Given the description of an element on the screen output the (x, y) to click on. 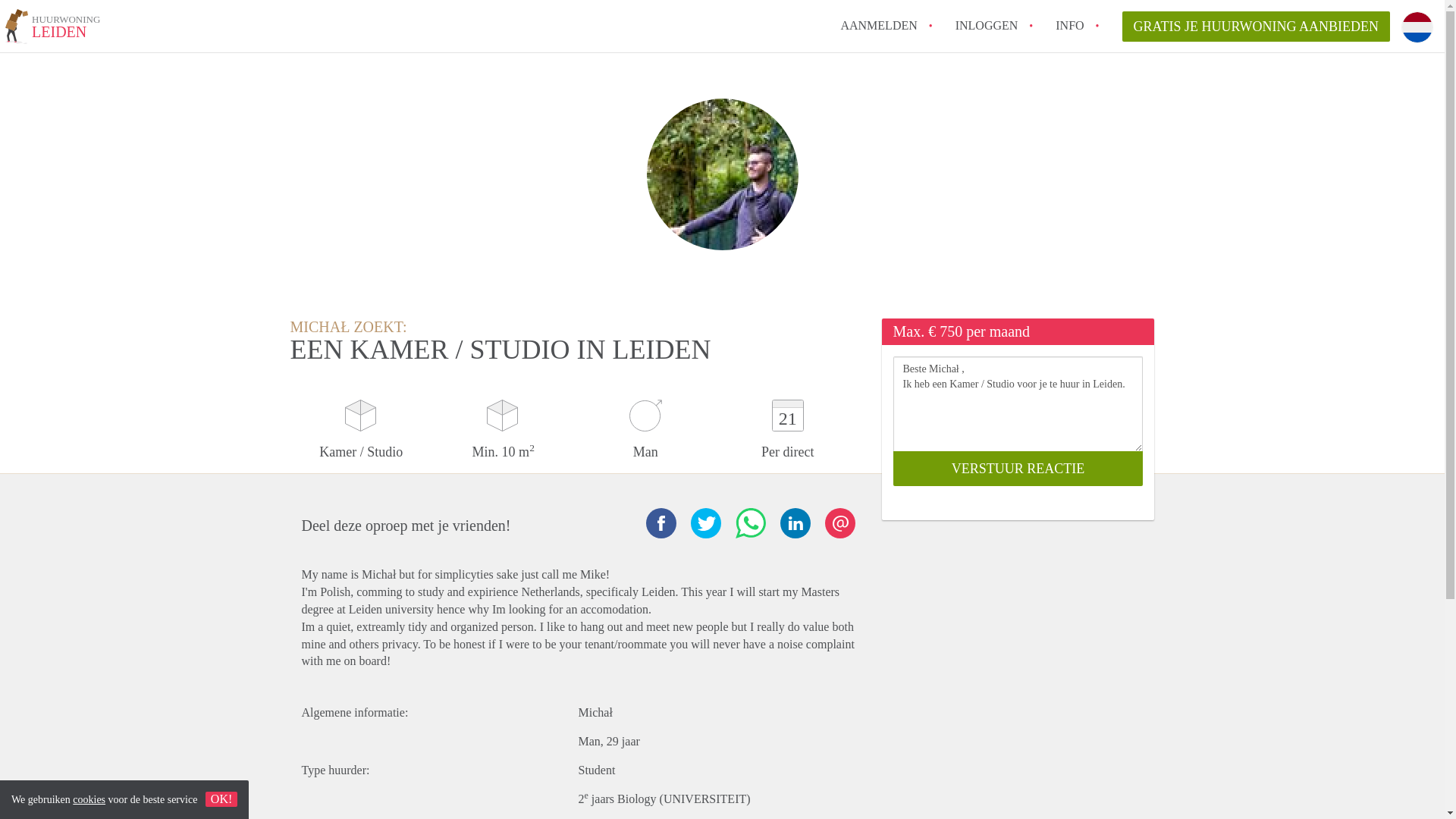
Deel deze oproep via Twitter (705, 522)
Antwoorden op veelgestelde vragen (1069, 25)
Inloggen met je gegevens (986, 25)
INLOGGEN (986, 25)
Deel deze oproep via E-mail (840, 522)
Deel deze oproep via Facebook (661, 522)
VERSTUUR REACTIE (1017, 468)
cookies (88, 799)
Aanmelden voor een nieuw account (52, 28)
GRATIS JE HUURWONING AANBIEDEN (878, 25)
AANMELDEN (1256, 26)
INFO (878, 25)
Deel deze oproep via LinkedIn (1069, 25)
OK! (793, 522)
